Given the description of an element on the screen output the (x, y) to click on. 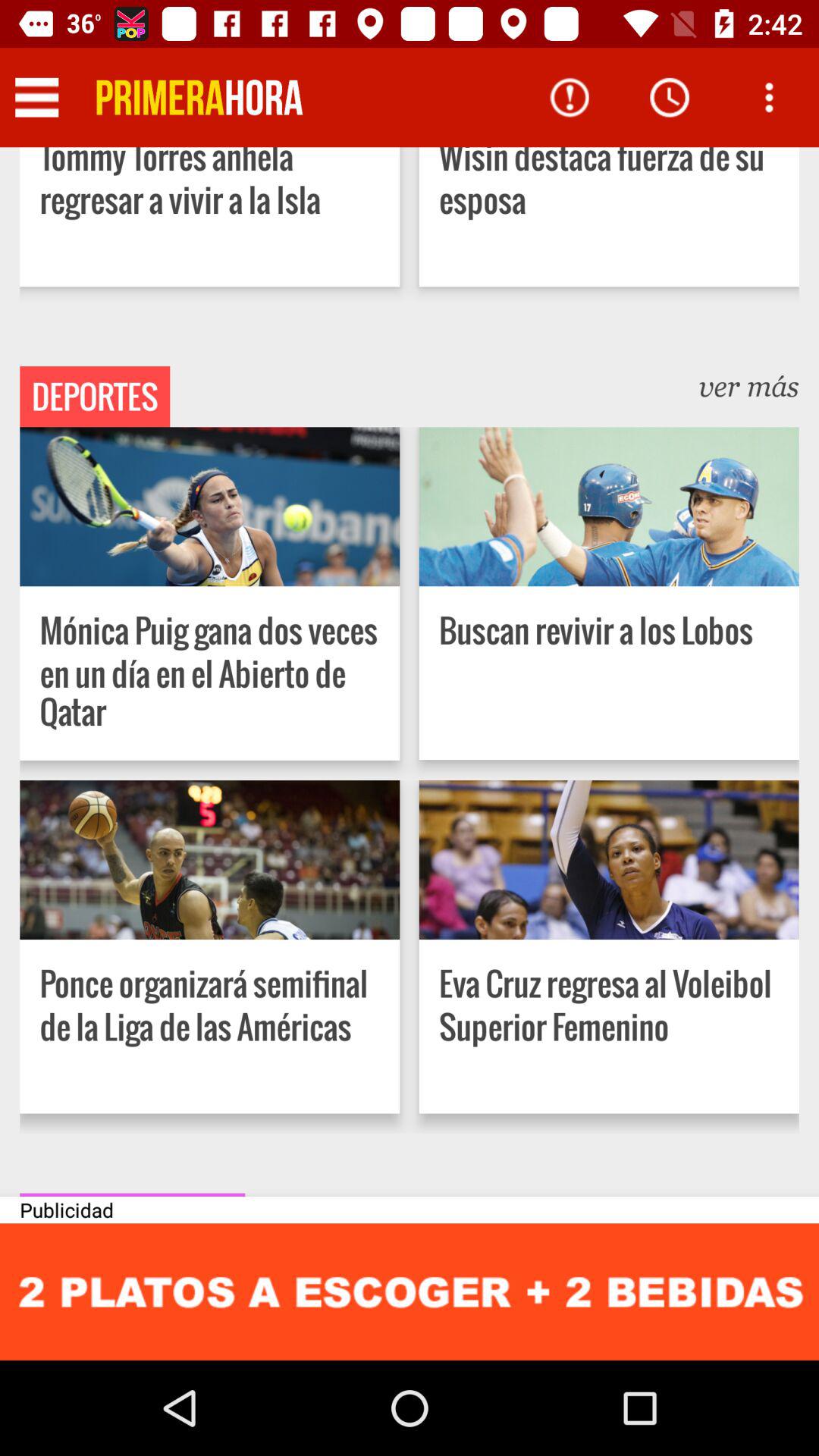
expand menu (36, 97)
